Given the description of an element on the screen output the (x, y) to click on. 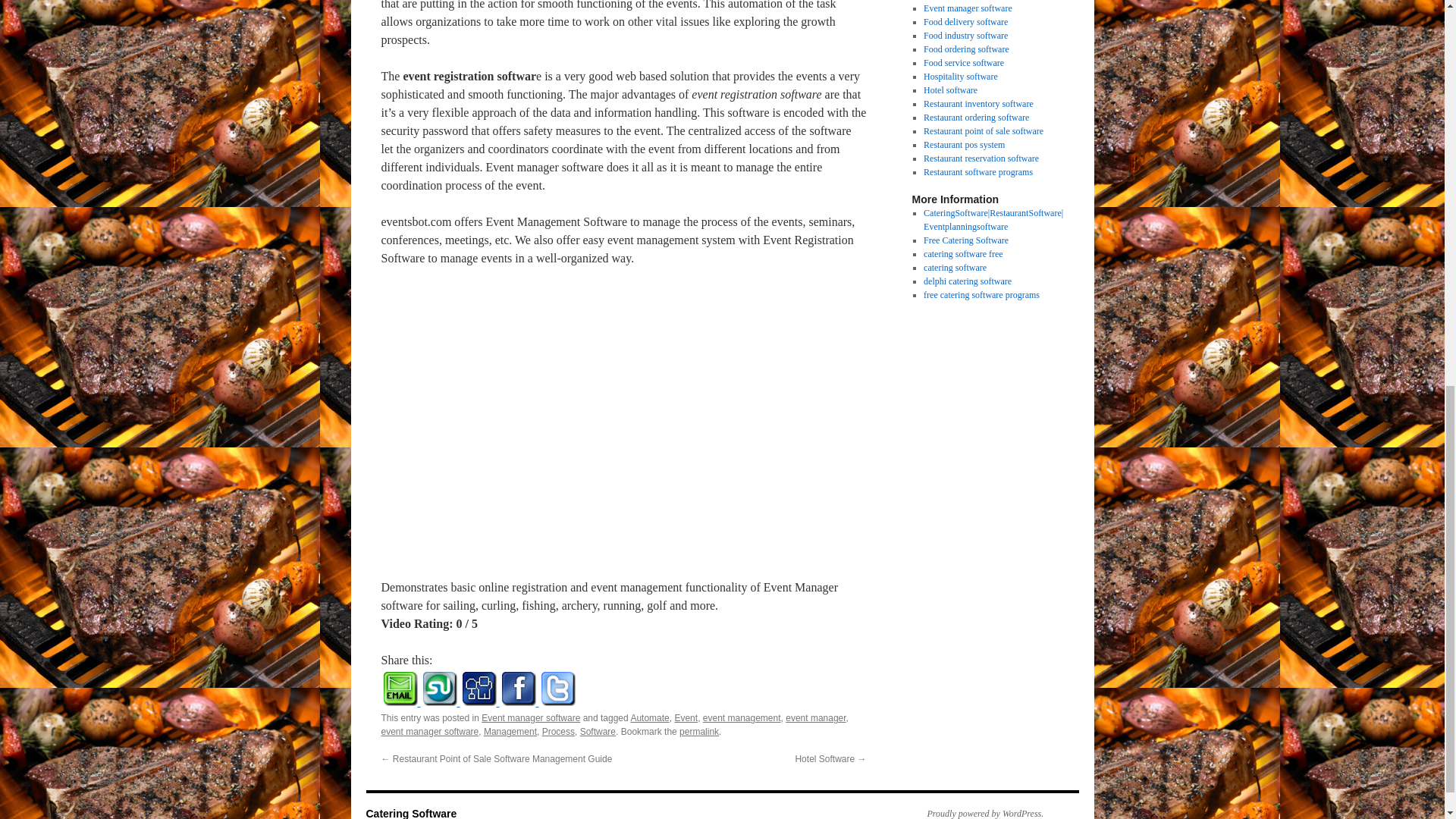
permalink (699, 731)
event management (741, 717)
event manager software (429, 731)
Event manager software (530, 717)
Management (510, 731)
Automate (649, 717)
Process (558, 731)
event manager (815, 717)
Software (597, 731)
Free Catering Software (966, 240)
